Given the description of an element on the screen output the (x, y) to click on. 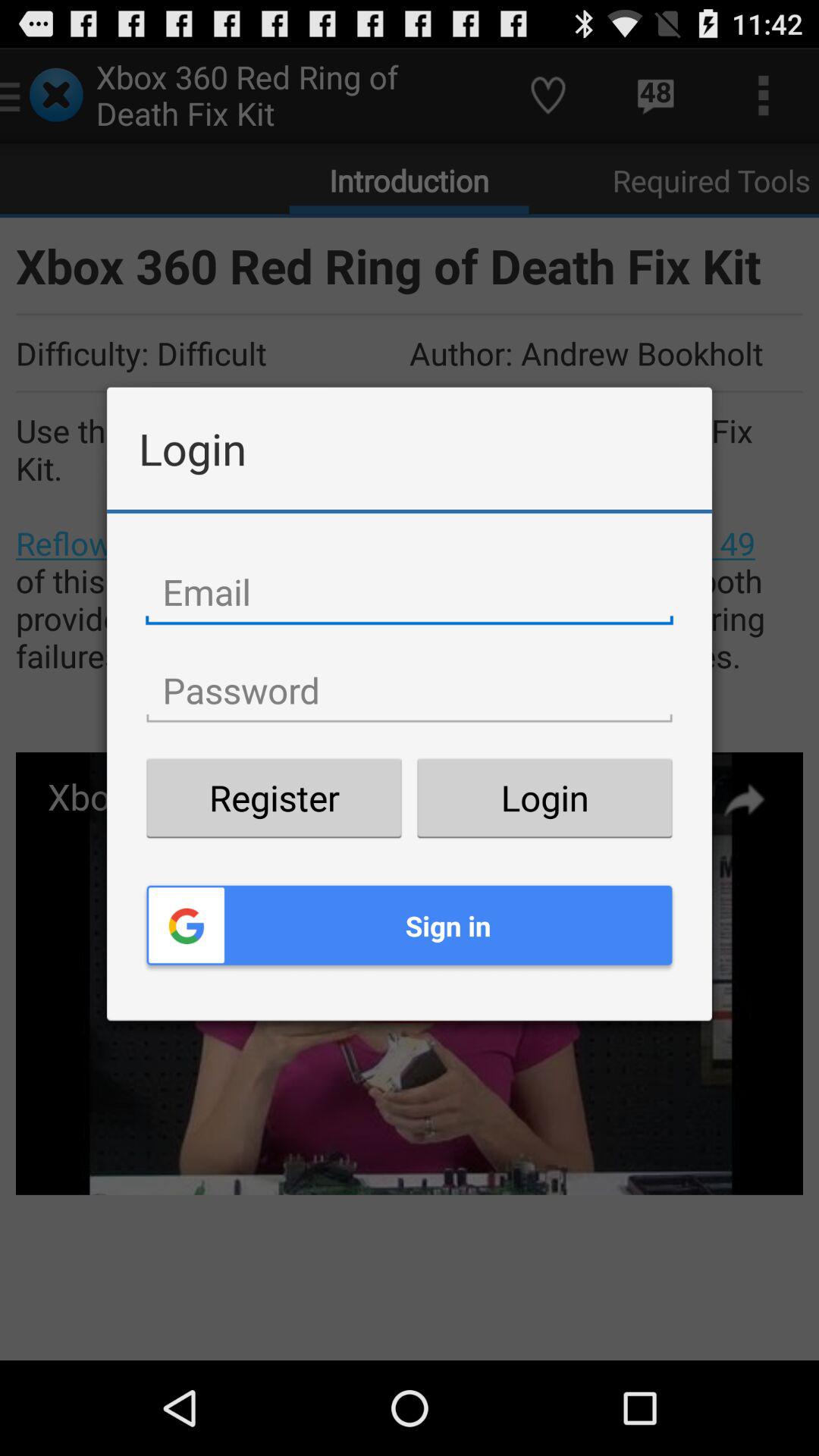
add login email (409, 592)
